Given the description of an element on the screen output the (x, y) to click on. 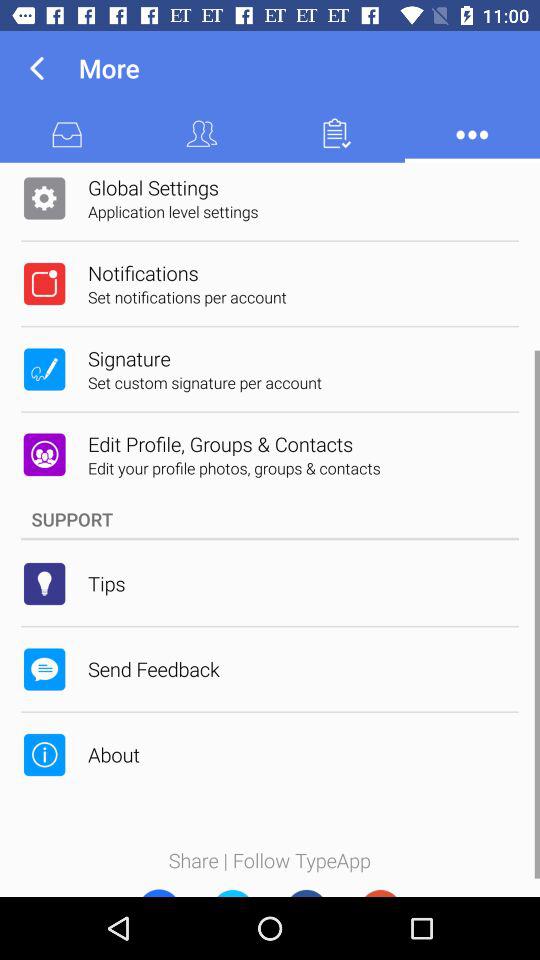
click item below the support app (106, 583)
